Given the description of an element on the screen output the (x, y) to click on. 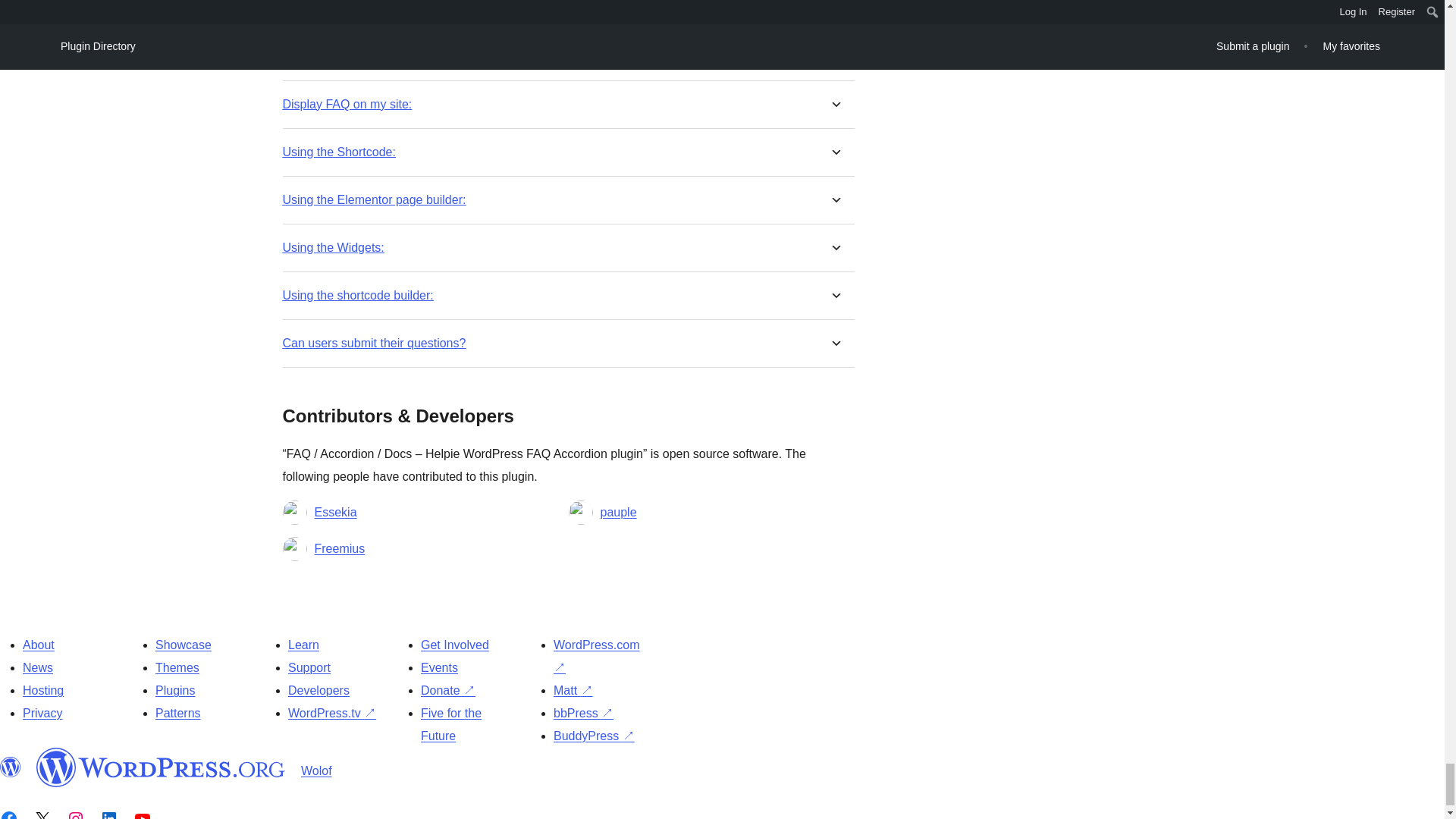
WordPress.org (10, 767)
WordPress.org (160, 767)
